Given the description of an element on the screen output the (x, y) to click on. 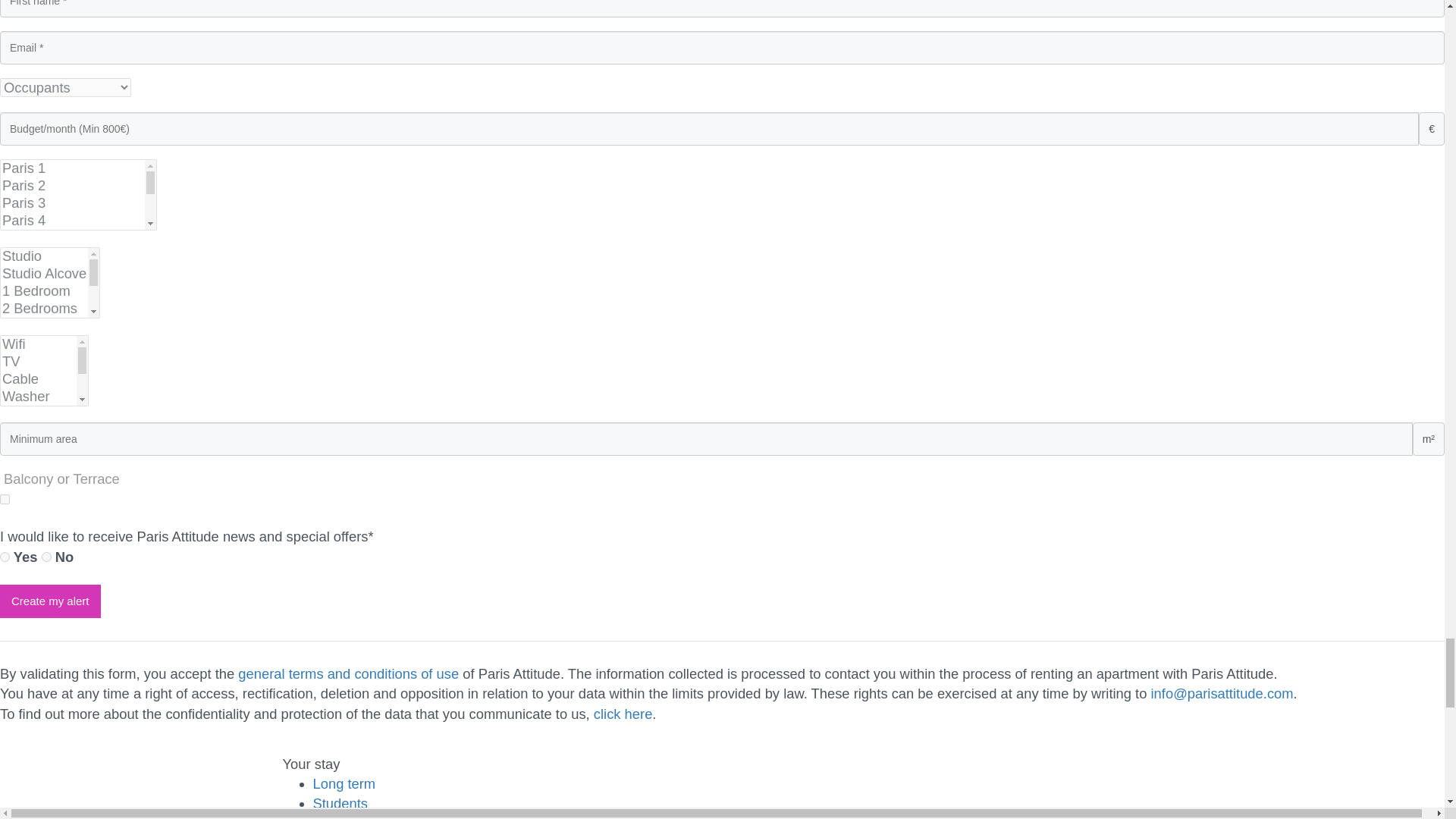
False (46, 556)
Create my alert (50, 601)
True (5, 556)
on (5, 499)
